Given the description of an element on the screen output the (x, y) to click on. 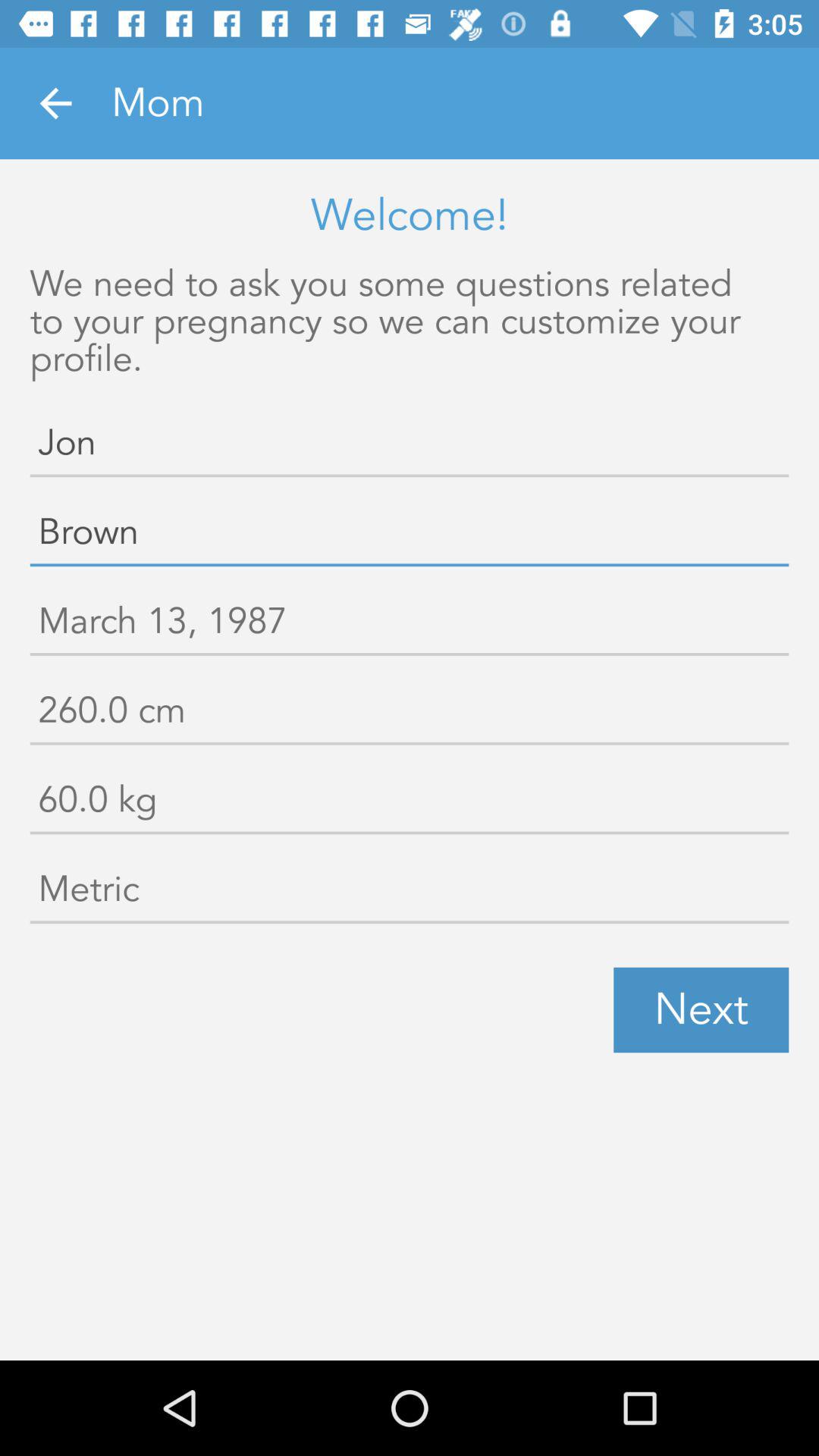
open icon to the left of the mom item (55, 103)
